Given the description of an element on the screen output the (x, y) to click on. 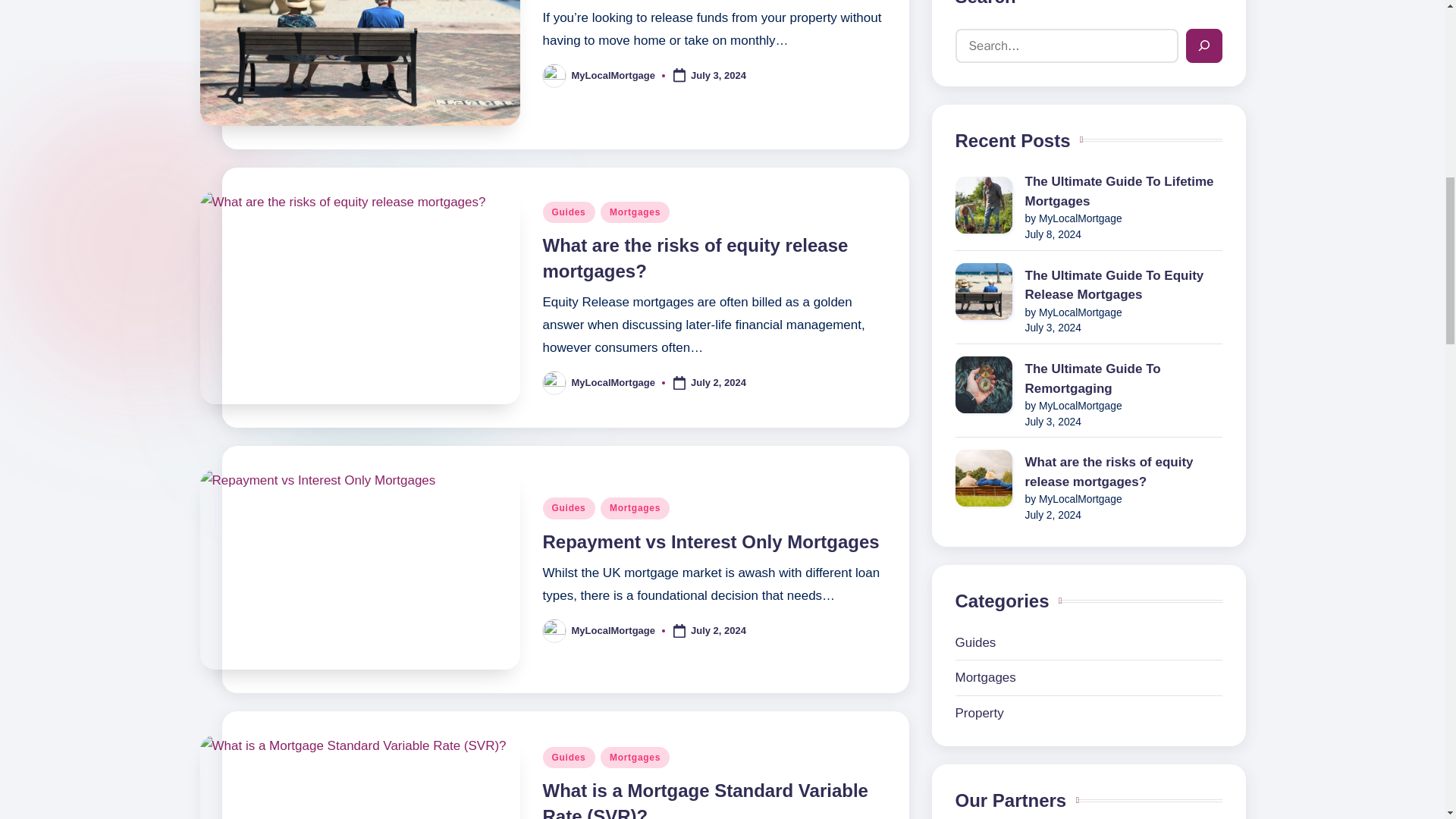
View all posts by MyLocalMortgage (614, 630)
View all posts by MyLocalMortgage (614, 382)
Repayment vs Interest Only Mortgages (711, 541)
What are the risks of equity release mortgages? (695, 258)
View all posts by MyLocalMortgage (614, 75)
